Given the description of an element on the screen output the (x, y) to click on. 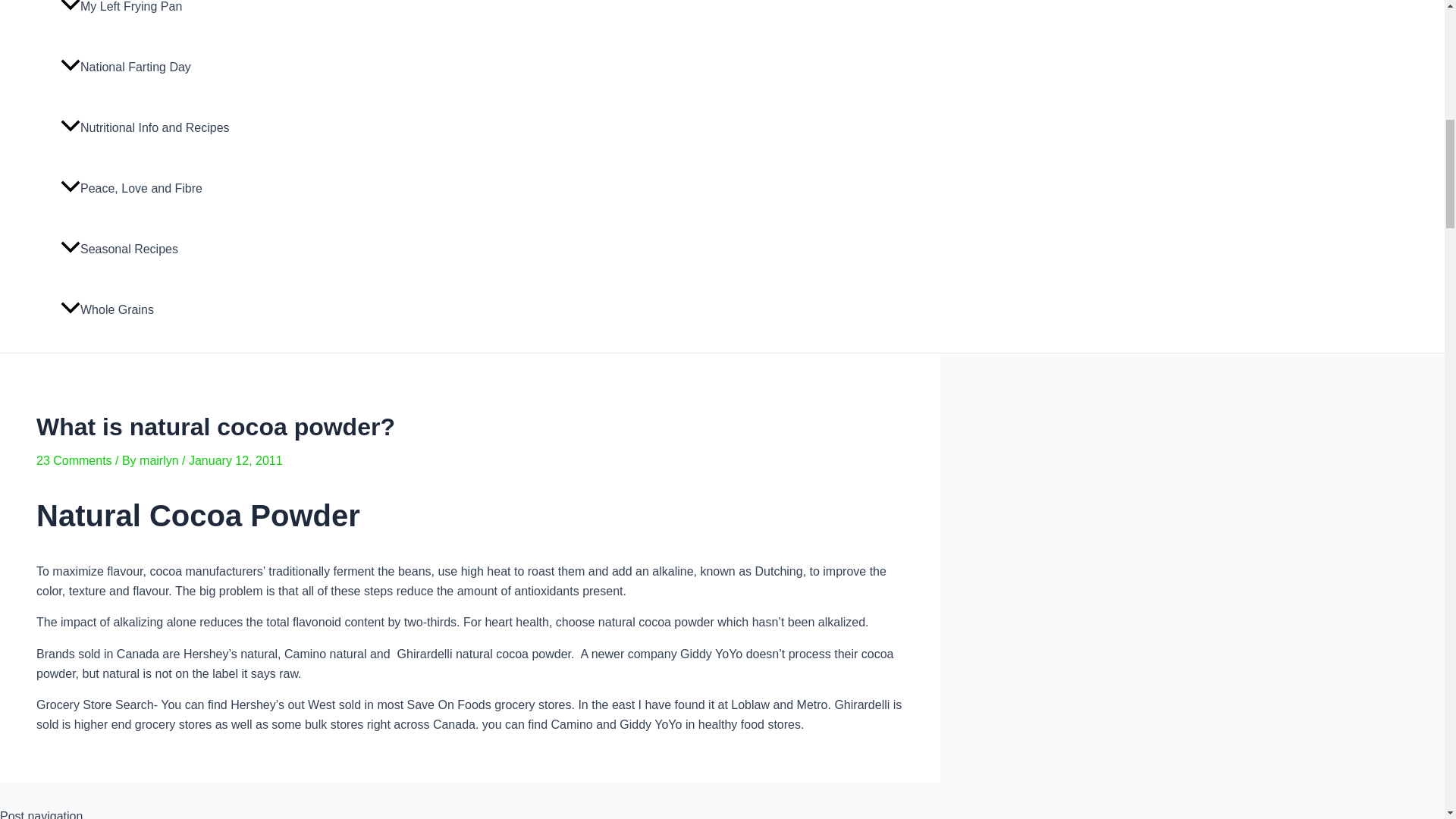
My Left Frying Pan (145, 18)
Nutritional Info and Recipes (145, 127)
Seasonal Recipes (145, 249)
Peace, Love and Fibre (145, 188)
View all posts by mairlyn (160, 460)
Whole Grains (145, 310)
National Farting Day (145, 66)
